Given the description of an element on the screen output the (x, y) to click on. 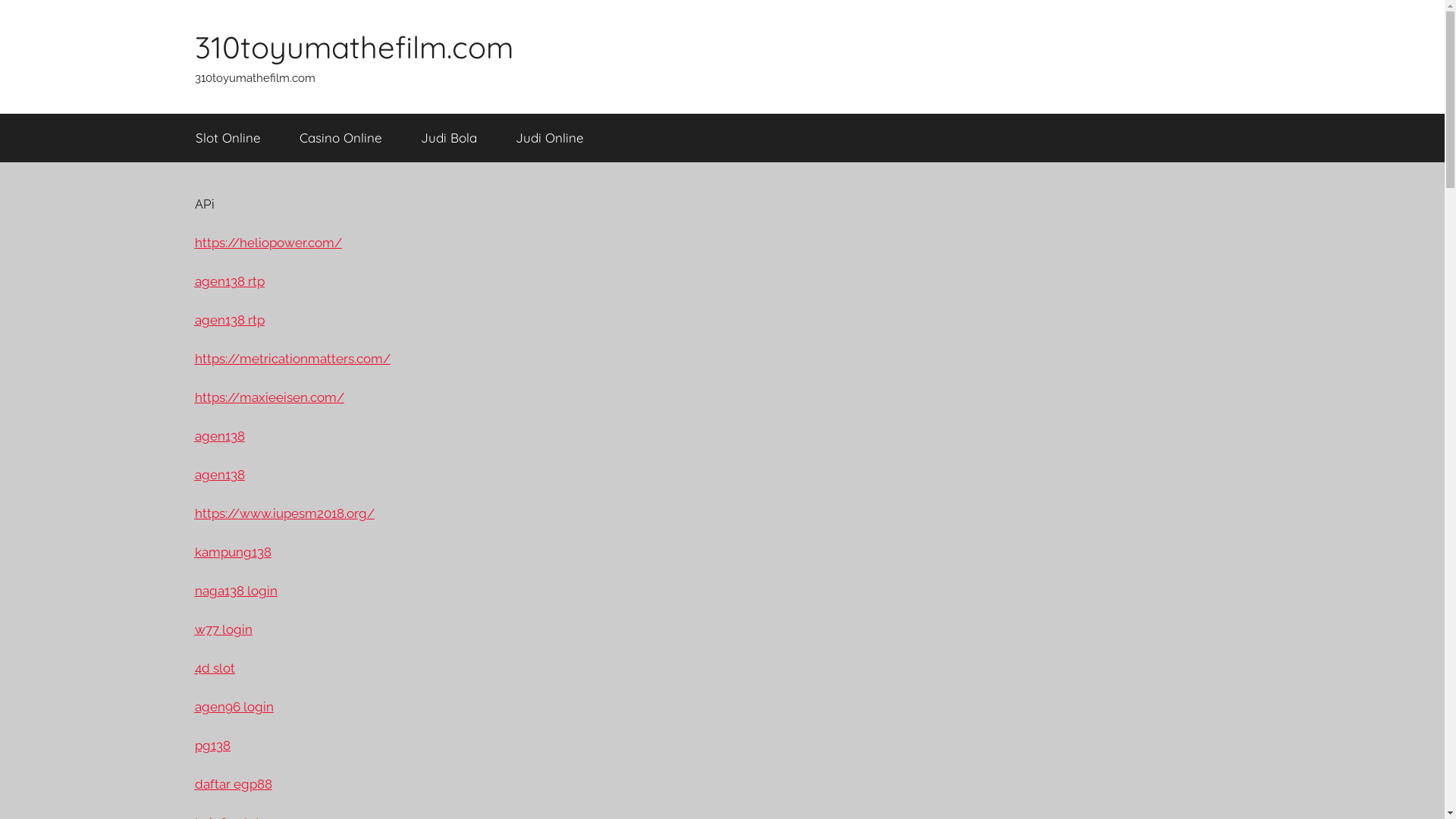
Judi Bola Element type: text (448, 137)
w77 login Element type: text (222, 629)
daftar egp88 Element type: text (232, 783)
agen96 login Element type: text (233, 706)
https://heliopower.com/ Element type: text (267, 242)
https://metricationmatters.com/ Element type: text (291, 358)
Slot Online Element type: text (227, 137)
https://www.iupesm2018.org/ Element type: text (283, 512)
pg138 Element type: text (211, 745)
https://maxieeisen.com/ Element type: text (268, 396)
4d slot Element type: text (214, 667)
Casino Online Element type: text (340, 137)
naga138 login Element type: text (235, 590)
agen138 rtp Element type: text (228, 280)
Judi Online Element type: text (548, 137)
agen138 rtp Element type: text (228, 319)
agen138 Element type: text (219, 435)
agen138 Element type: text (219, 474)
310toyumathefilm.com Element type: text (353, 46)
kampung138 Element type: text (232, 551)
